Given the description of an element on the screen output the (x, y) to click on. 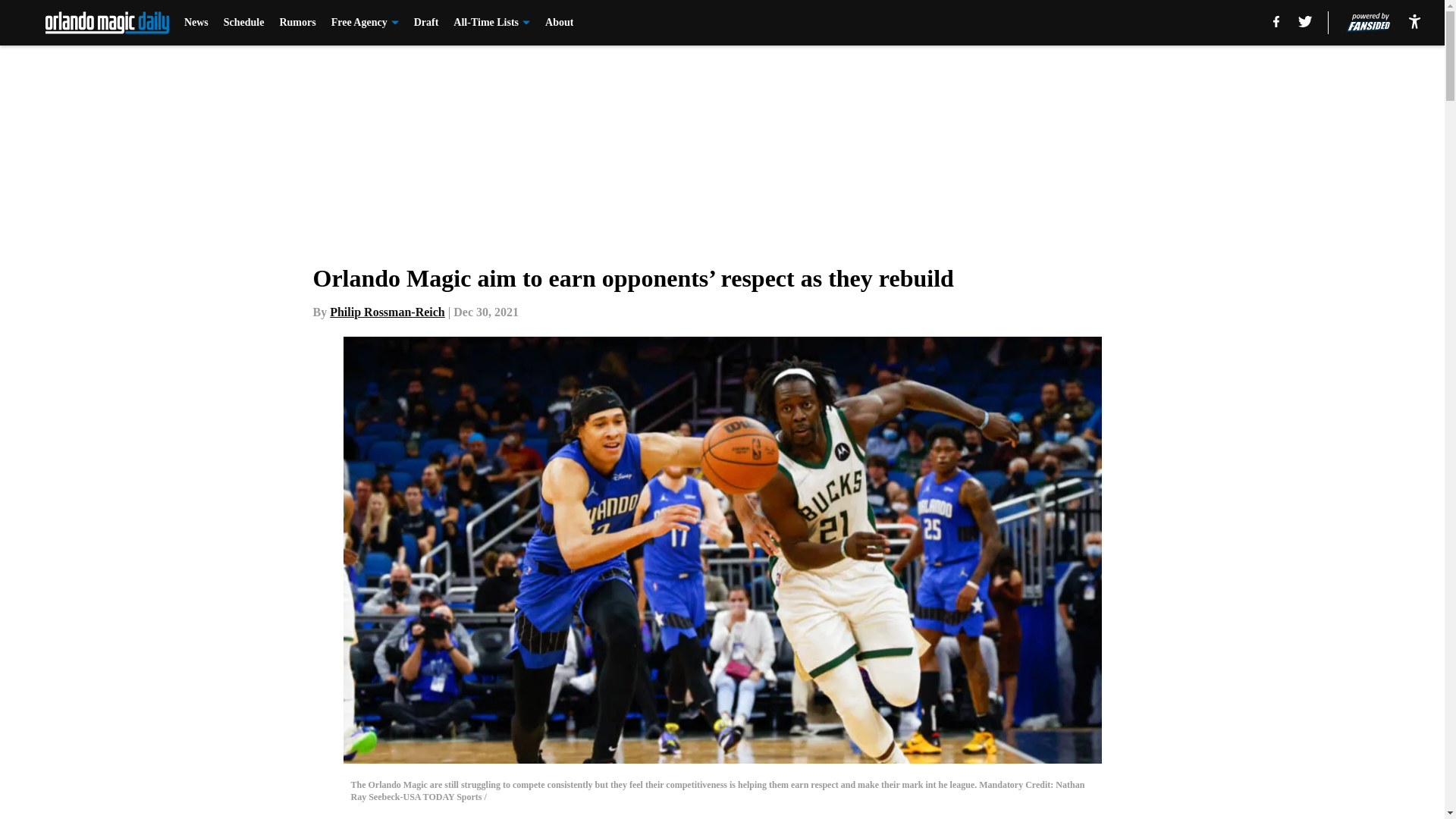
About (558, 22)
Philip Rossman-Reich (387, 311)
Schedule (244, 22)
All-Time Lists (490, 22)
Rumors (297, 22)
Draft (426, 22)
Free Agency (364, 22)
News (196, 22)
